Given the description of an element on the screen output the (x, y) to click on. 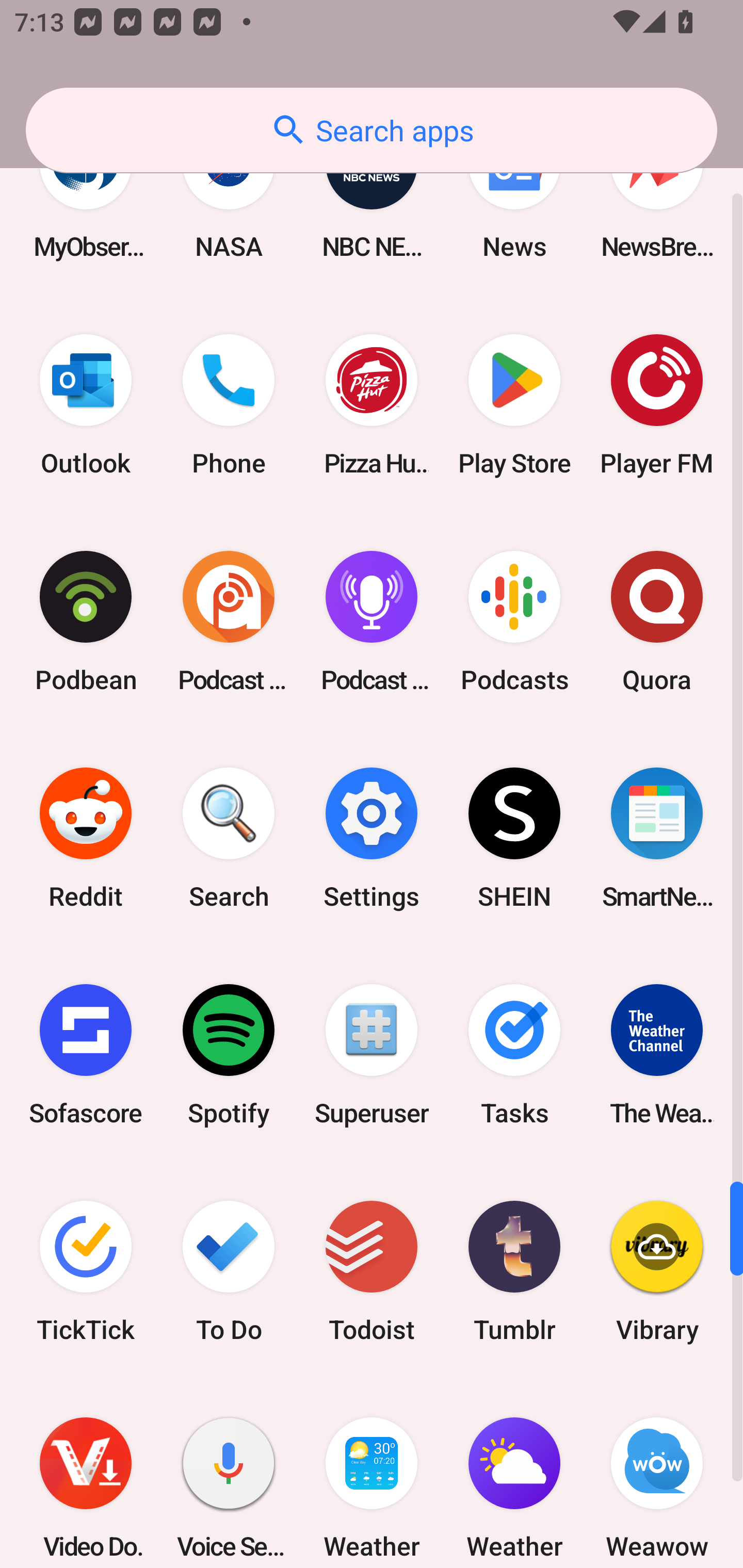
  Search apps (371, 130)
Outlook (85, 404)
Phone (228, 404)
Pizza Hut HK & Macau (371, 404)
Play Store (514, 404)
Player FM (656, 404)
Podbean (85, 620)
Podcast Addict (228, 620)
Podcast Player (371, 620)
Podcasts (514, 620)
Quora (656, 620)
Reddit (85, 838)
Search (228, 838)
Settings (371, 838)
SHEIN (514, 838)
SmartNews (656, 838)
Sofascore (85, 1055)
Spotify (228, 1055)
Superuser (371, 1055)
Tasks (514, 1055)
The Weather Channel (656, 1055)
TickTick (85, 1271)
To Do (228, 1271)
Todoist (371, 1271)
Tumblr (514, 1271)
Vibrary (656, 1271)
Video Downloader & Ace Player (85, 1473)
Voice Search (228, 1473)
Weather (371, 1473)
Weather (514, 1473)
Weawow (656, 1473)
